Given the description of an element on the screen output the (x, y) to click on. 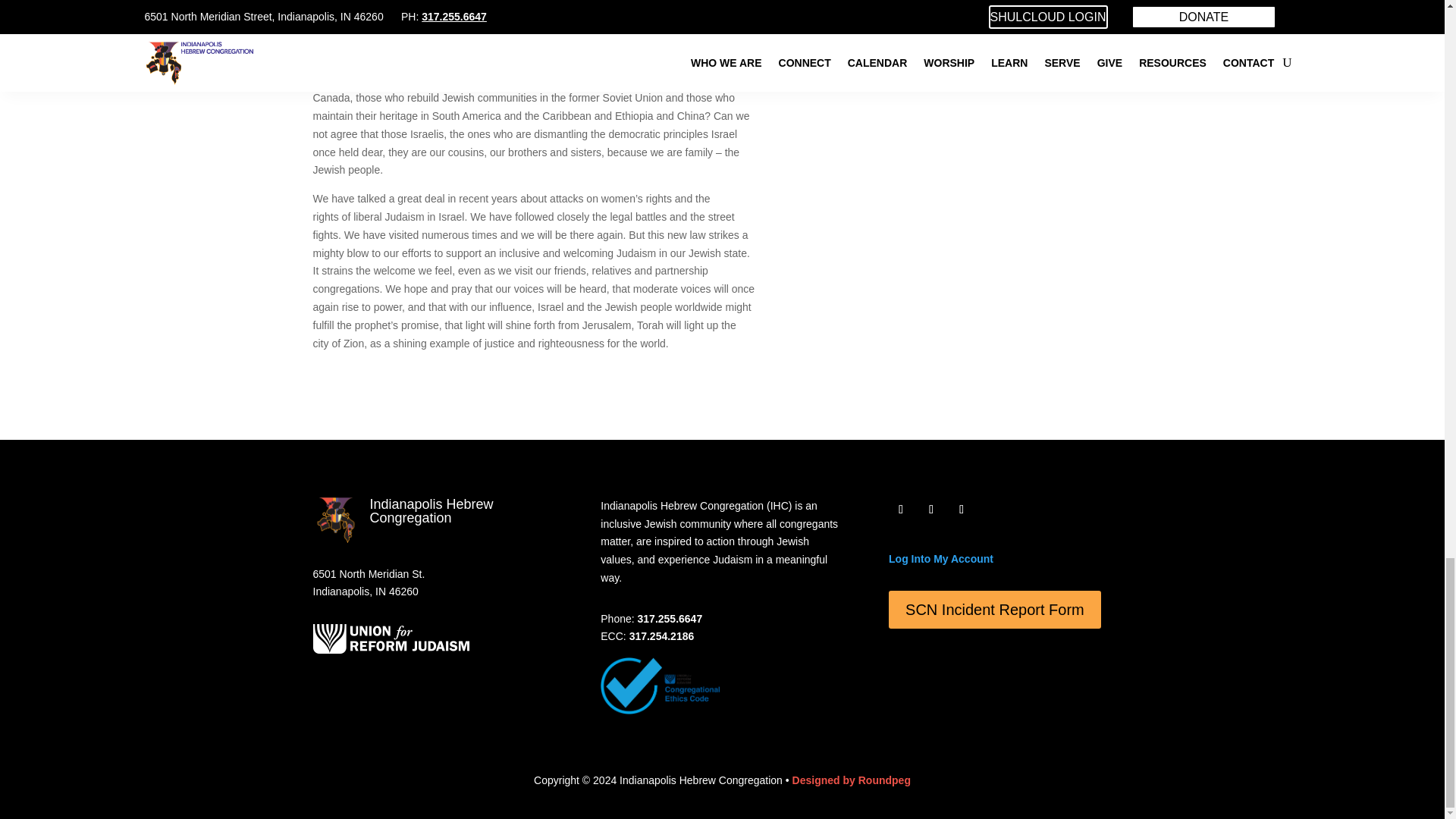
Follow on Youtube (930, 509)
Follow on Instagram (961, 509)
Follow on Facebook (900, 509)
URJ-Congregational-Ethics-transp-bg (659, 685)
